Given the description of an element on the screen output the (x, y) to click on. 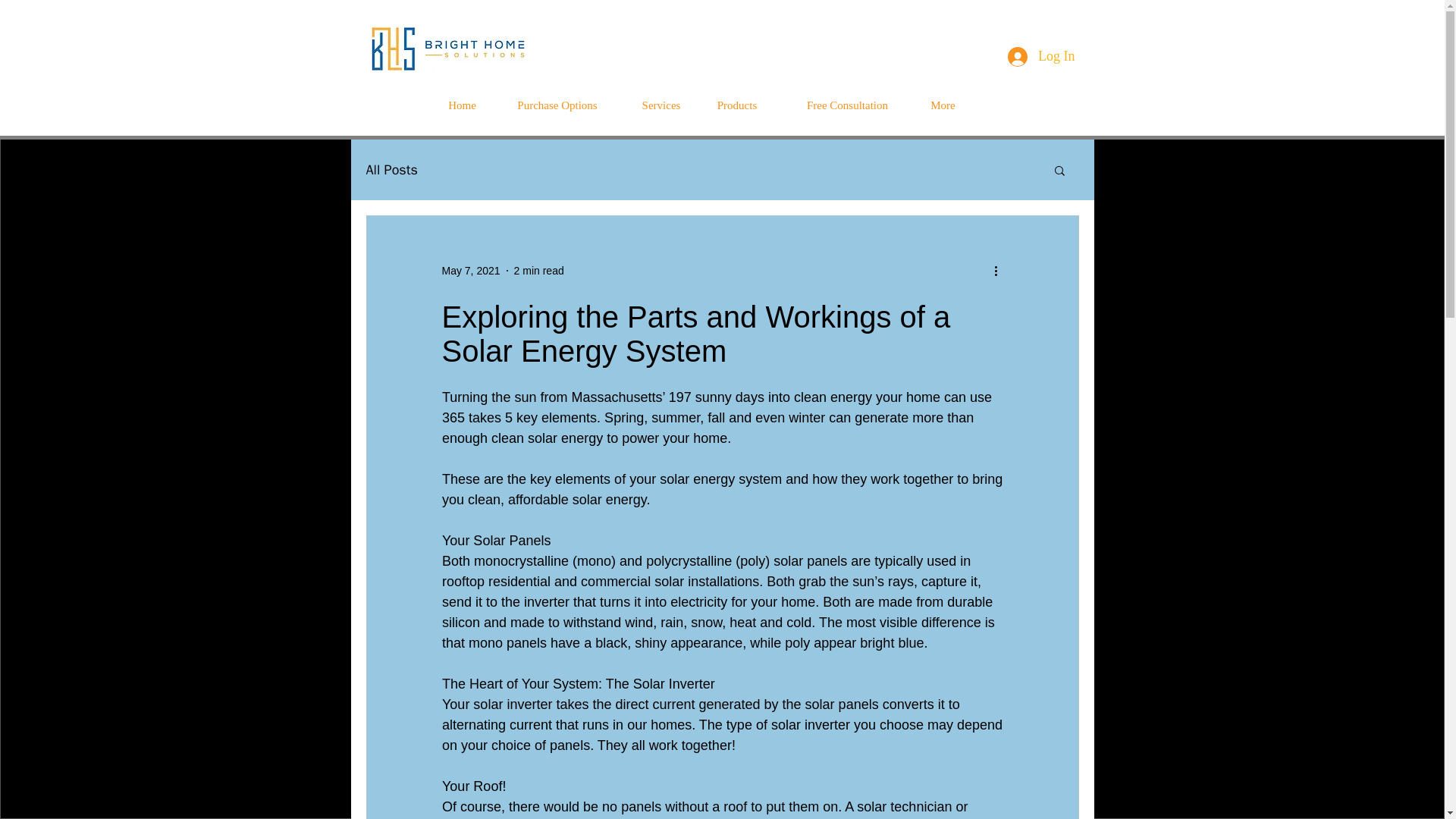
Home (461, 105)
Purchase Options (556, 105)
Free Consultation (847, 105)
All Posts (390, 169)
Log In (1041, 56)
May 7, 2021 (470, 269)
2 min read (538, 269)
Products (736, 105)
